Given the description of an element on the screen output the (x, y) to click on. 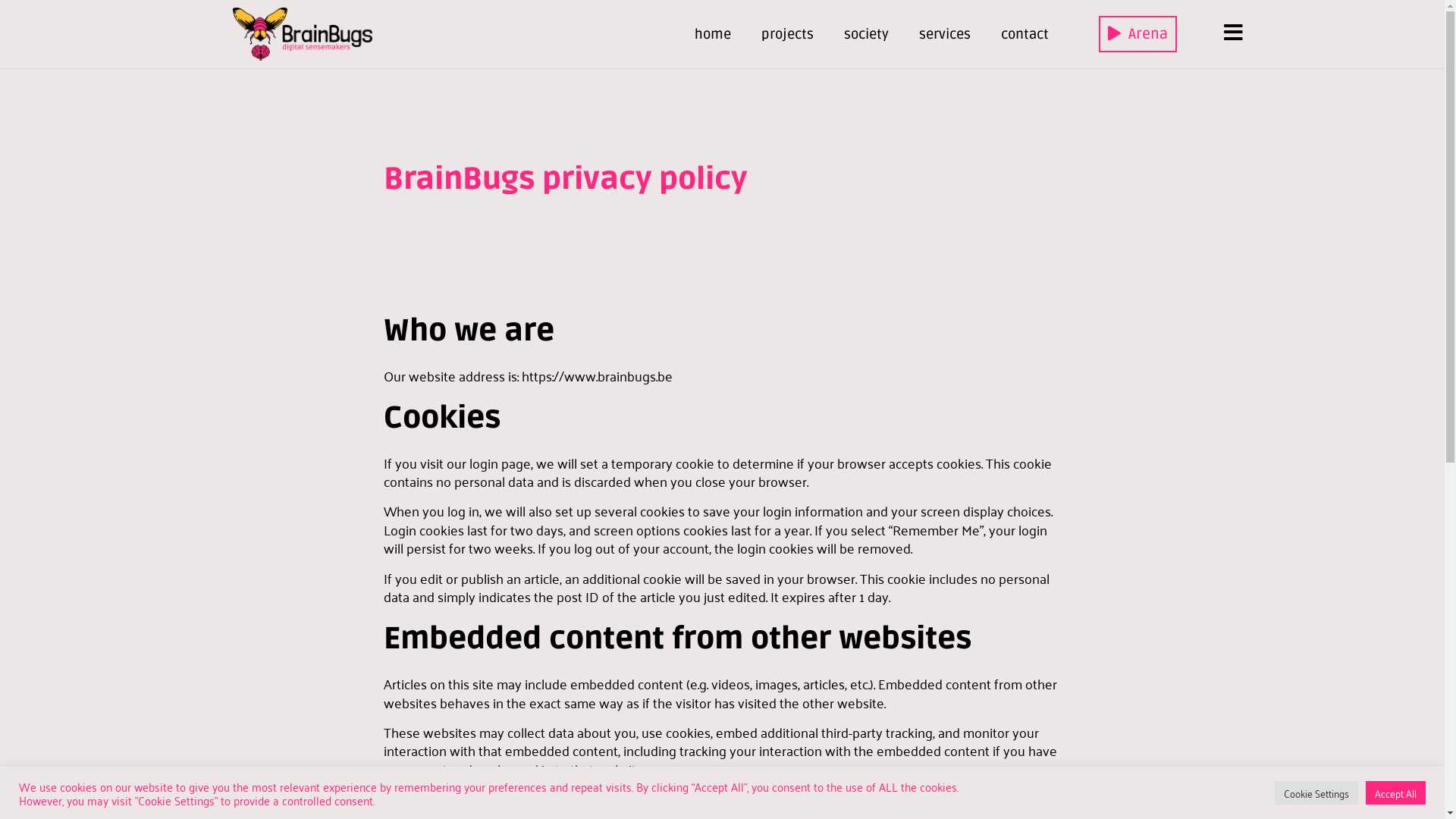
society Element type: text (865, 33)
Arena Element type: text (1137, 34)
contact Element type: text (1024, 33)
Cookie Settings Element type: text (1316, 792)
services Element type: text (944, 33)
Accept All Element type: text (1395, 792)
projects Element type: text (787, 33)
home Element type: text (712, 33)
